Given the description of an element on the screen output the (x, y) to click on. 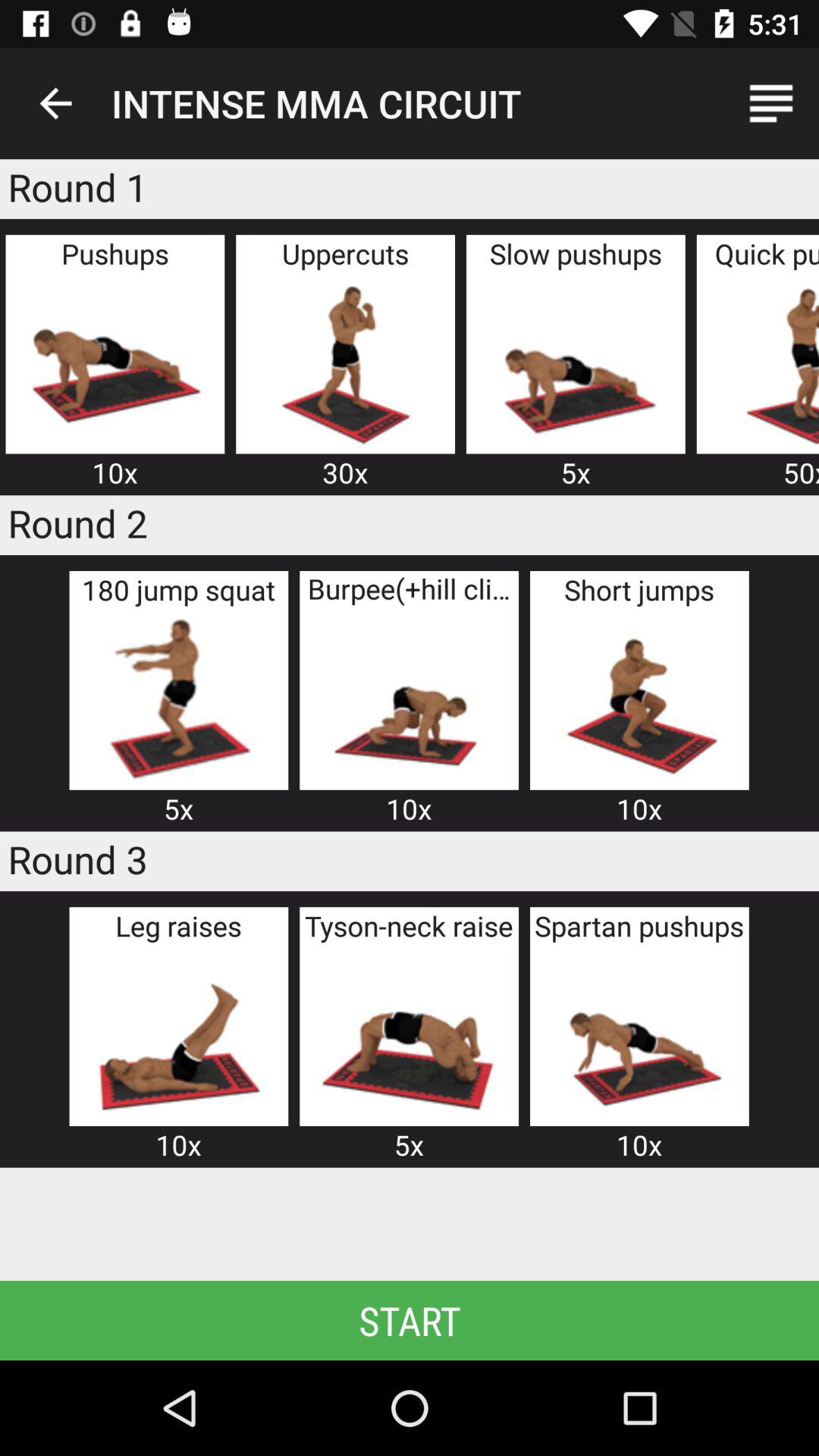
show picture (767, 362)
